Given the description of an element on the screen output the (x, y) to click on. 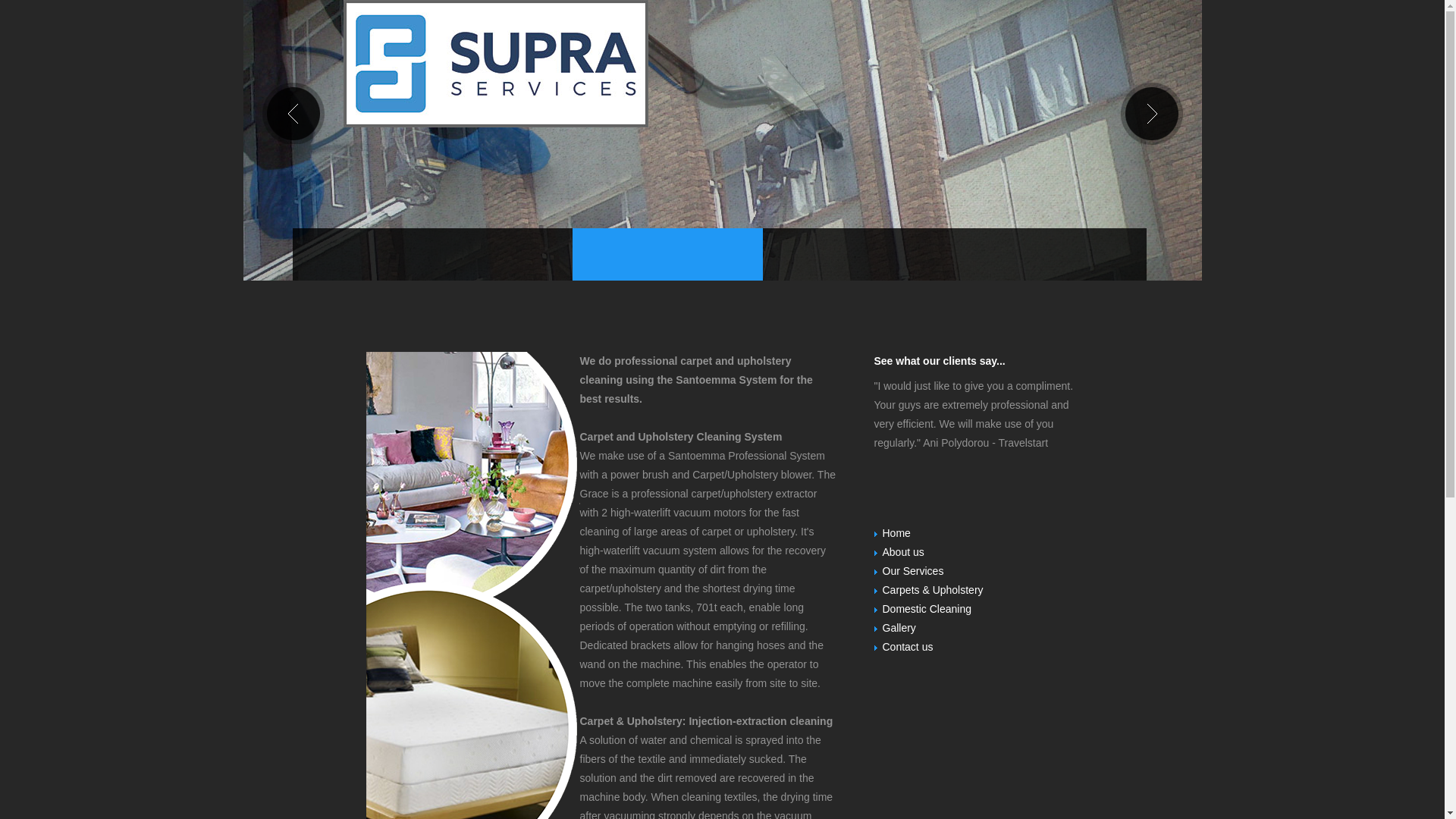
Contact us (907, 646)
Home (896, 532)
About us (903, 551)
Domestic Cleaning (927, 608)
Gallery (898, 627)
Our Services (912, 571)
